Given the description of an element on the screen output the (x, y) to click on. 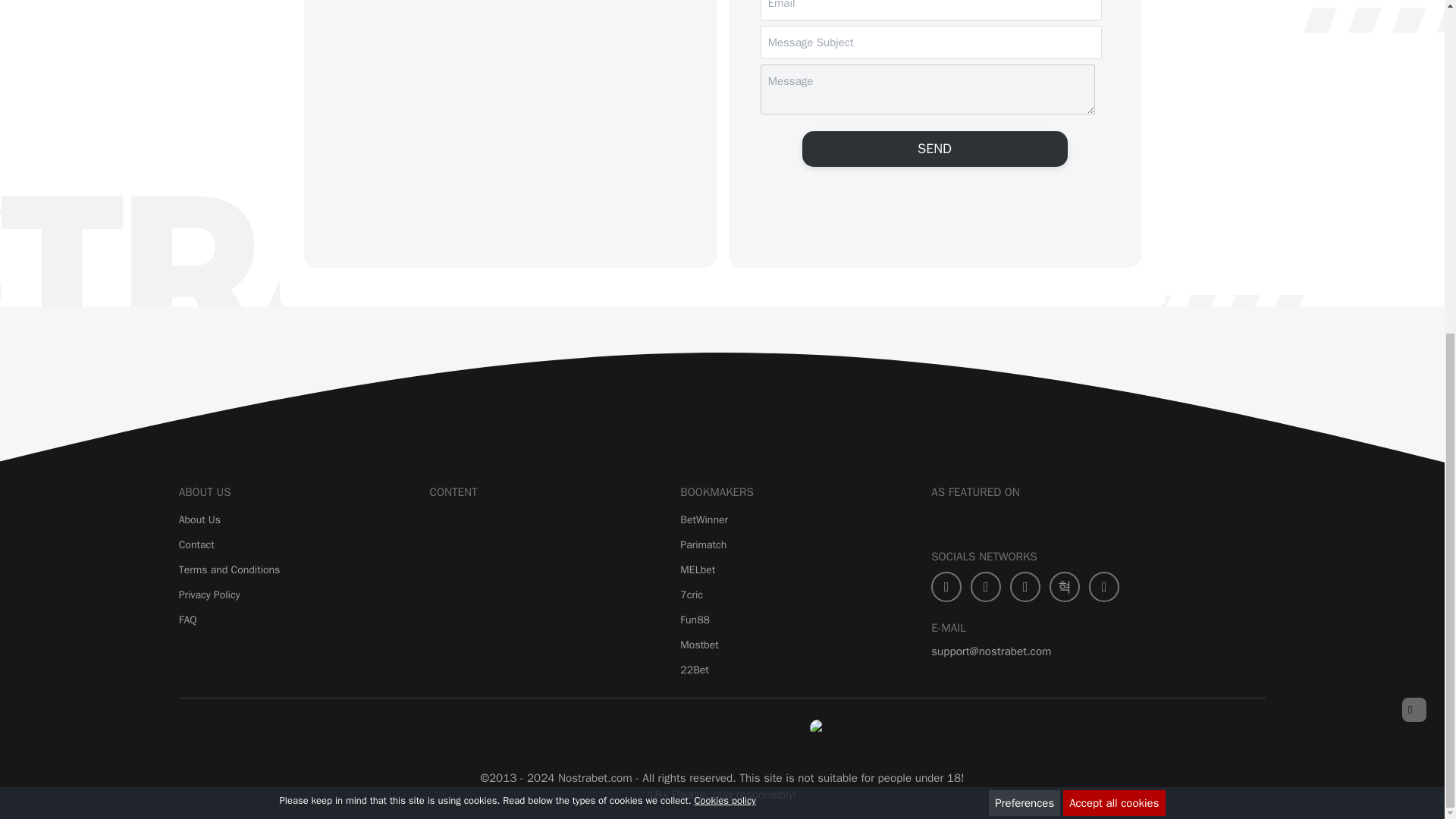
Twitter (986, 586)
DMCA.com Protection Status (834, 731)
Pinterest (1025, 586)
Linkedin (1104, 586)
Facebook (945, 586)
SEND (934, 149)
Trustpilot (326, 731)
Instagram (1064, 586)
About Us (304, 519)
